Given the description of an element on the screen output the (x, y) to click on. 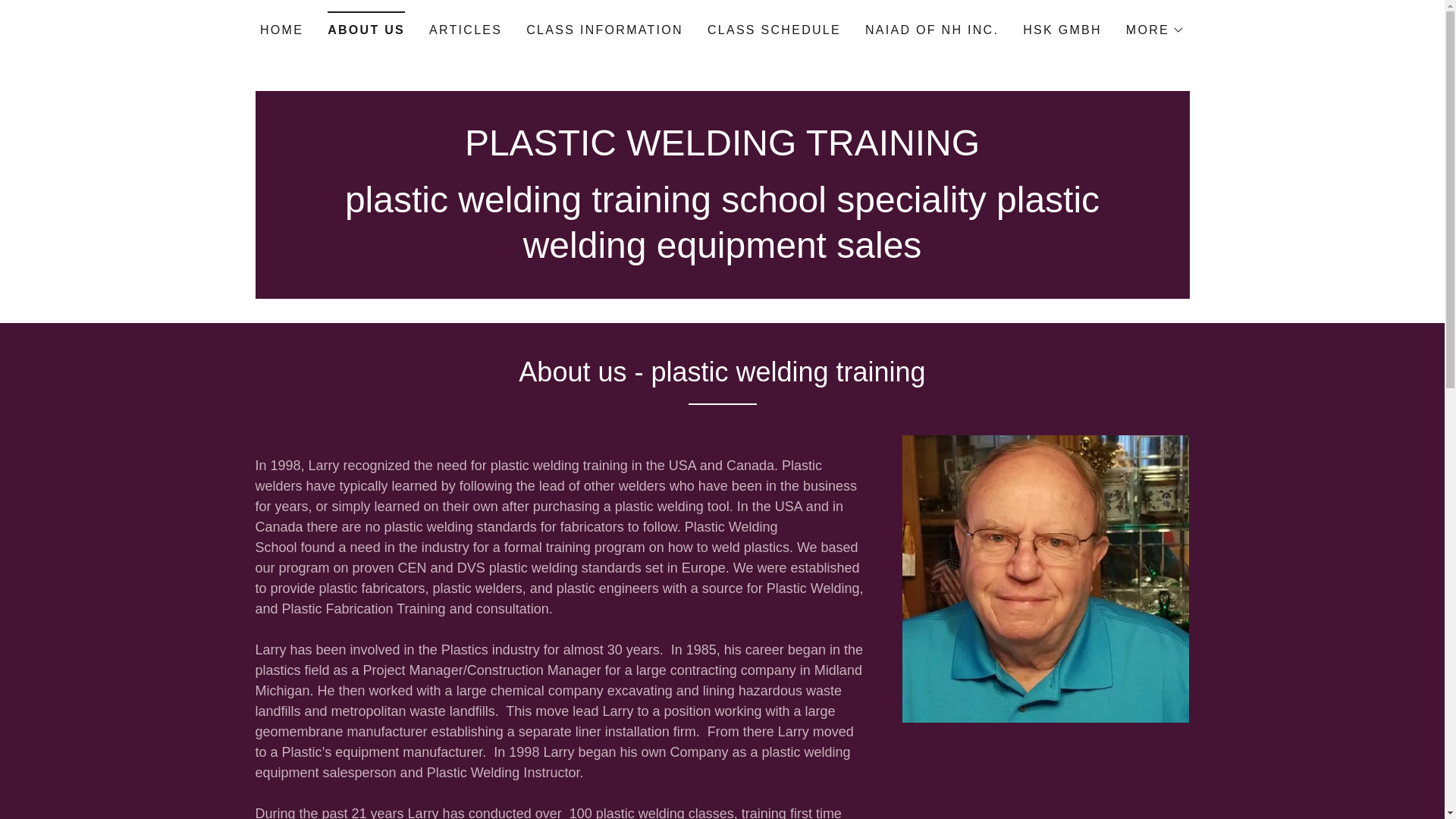
CLASS INFORMATION (604, 30)
PLASTIC WELDING TRAINING (721, 150)
CLASS SCHEDULE (774, 30)
HOME (281, 30)
NAIAD OF NH INC. (931, 30)
ARTICLES (465, 30)
ABOUT US (365, 25)
MORE (1155, 30)
HSK GMBH (1061, 30)
